Given the description of an element on the screen output the (x, y) to click on. 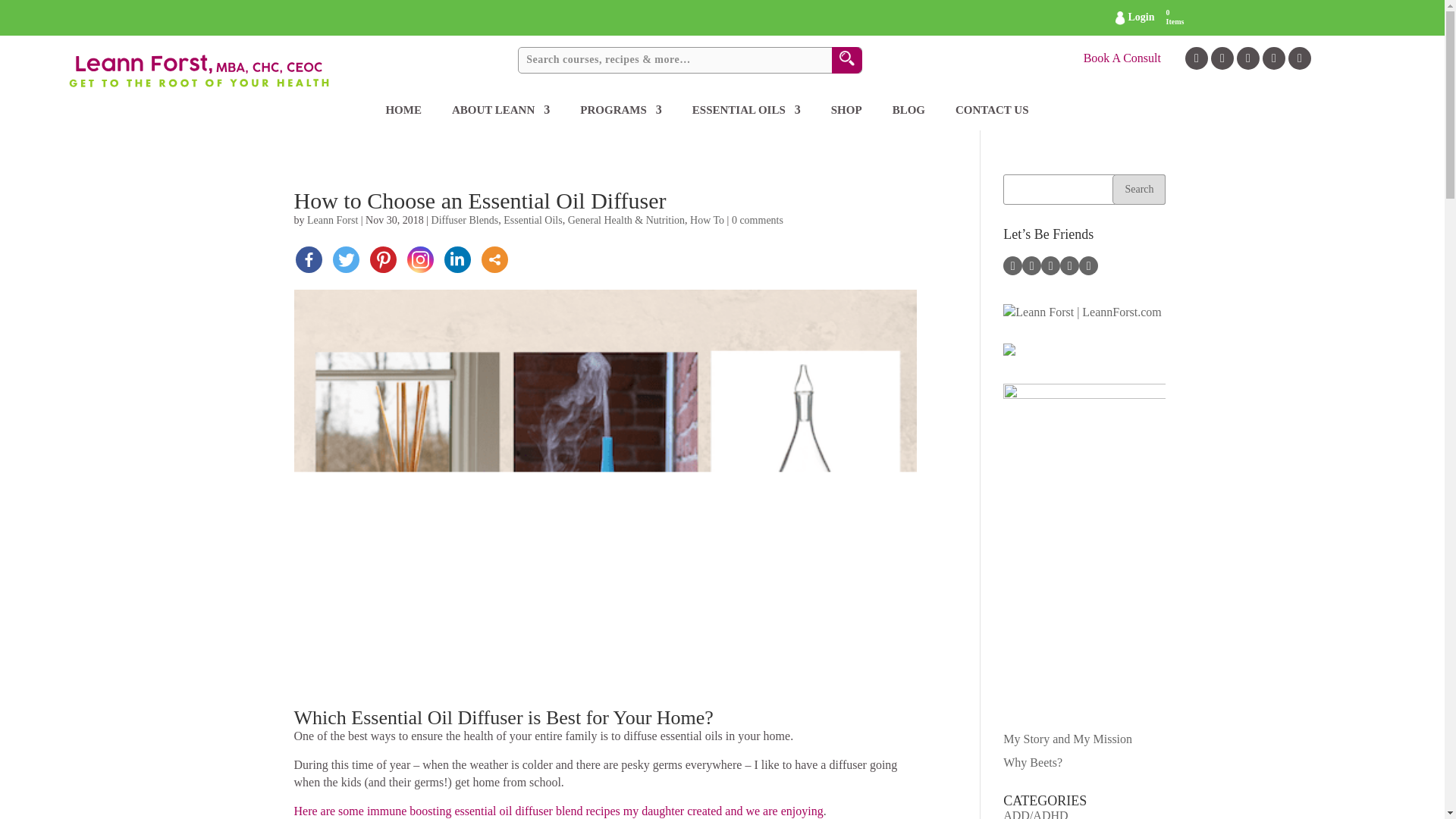
HOME (403, 117)
ABOUT LEANN (500, 117)
Search for: (689, 59)
BLOG (908, 117)
Posts by Leann Forst (332, 220)
Instagram (419, 259)
SHOP (846, 117)
Login (1134, 16)
Linkedin (457, 259)
CONTACT US (992, 117)
